Given the description of an element on the screen output the (x, y) to click on. 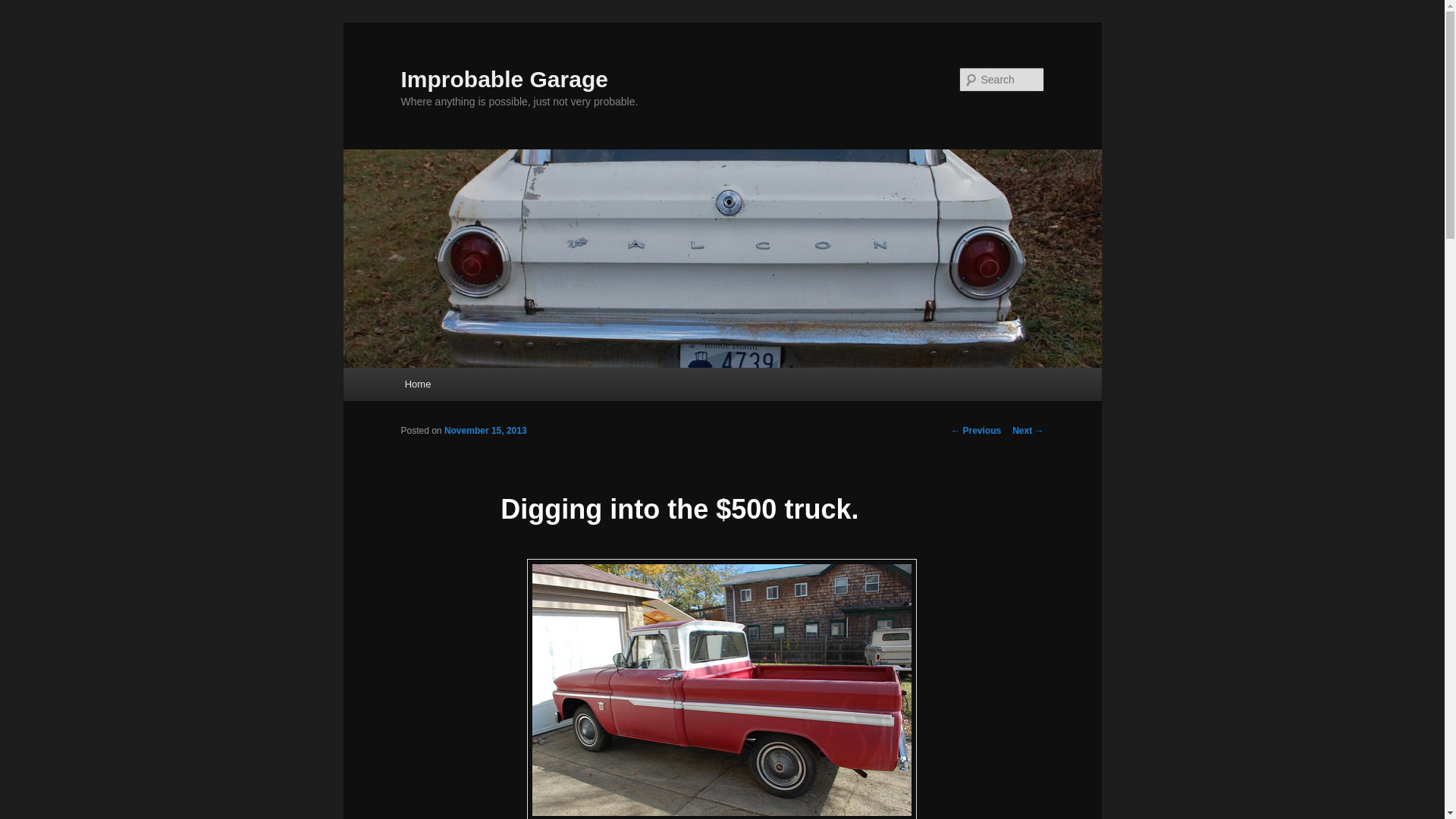
Search (24, 8)
8:04 pm (485, 430)
November 15, 2013 (485, 430)
Home (417, 383)
Improbable Garage (503, 78)
